Given the description of an element on the screen output the (x, y) to click on. 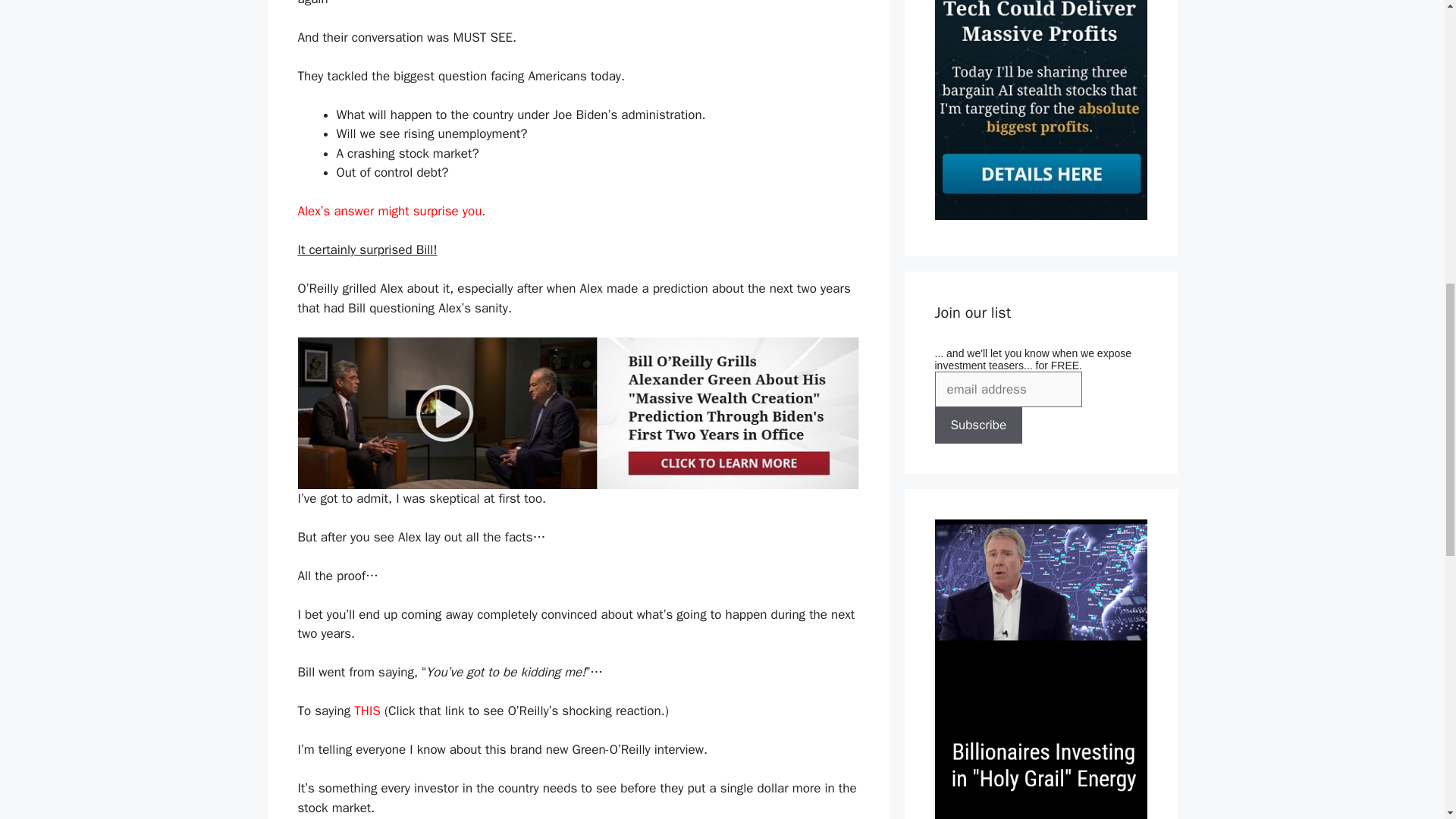
Subscribe (978, 425)
Manward Money Report Review (1040, 215)
THIS (366, 710)
